Given the description of an element on the screen output the (x, y) to click on. 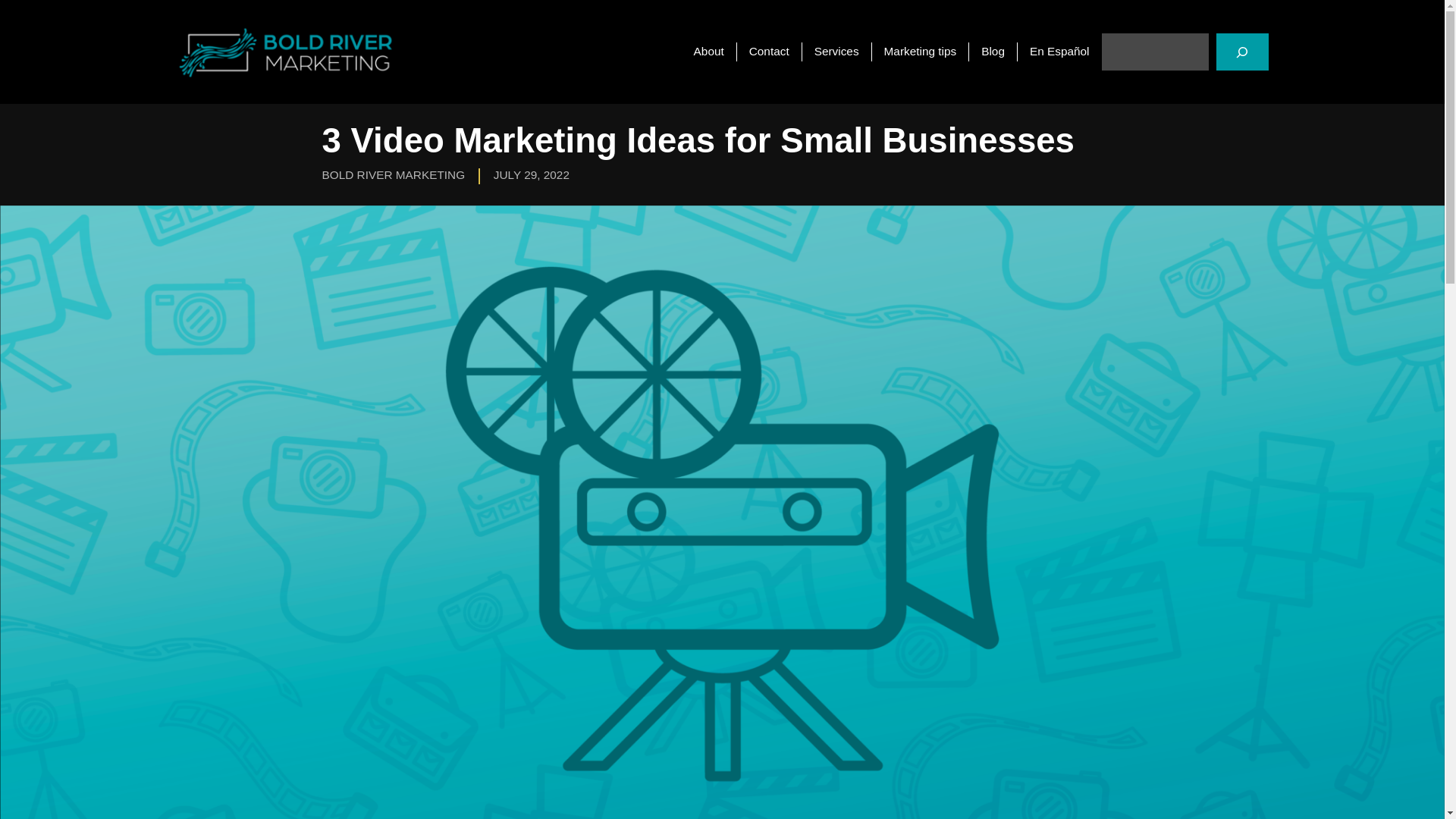
Blog (992, 51)
Marketing tips (919, 51)
Contact (769, 51)
About (708, 51)
Services (836, 51)
